Given the description of an element on the screen output the (x, y) to click on. 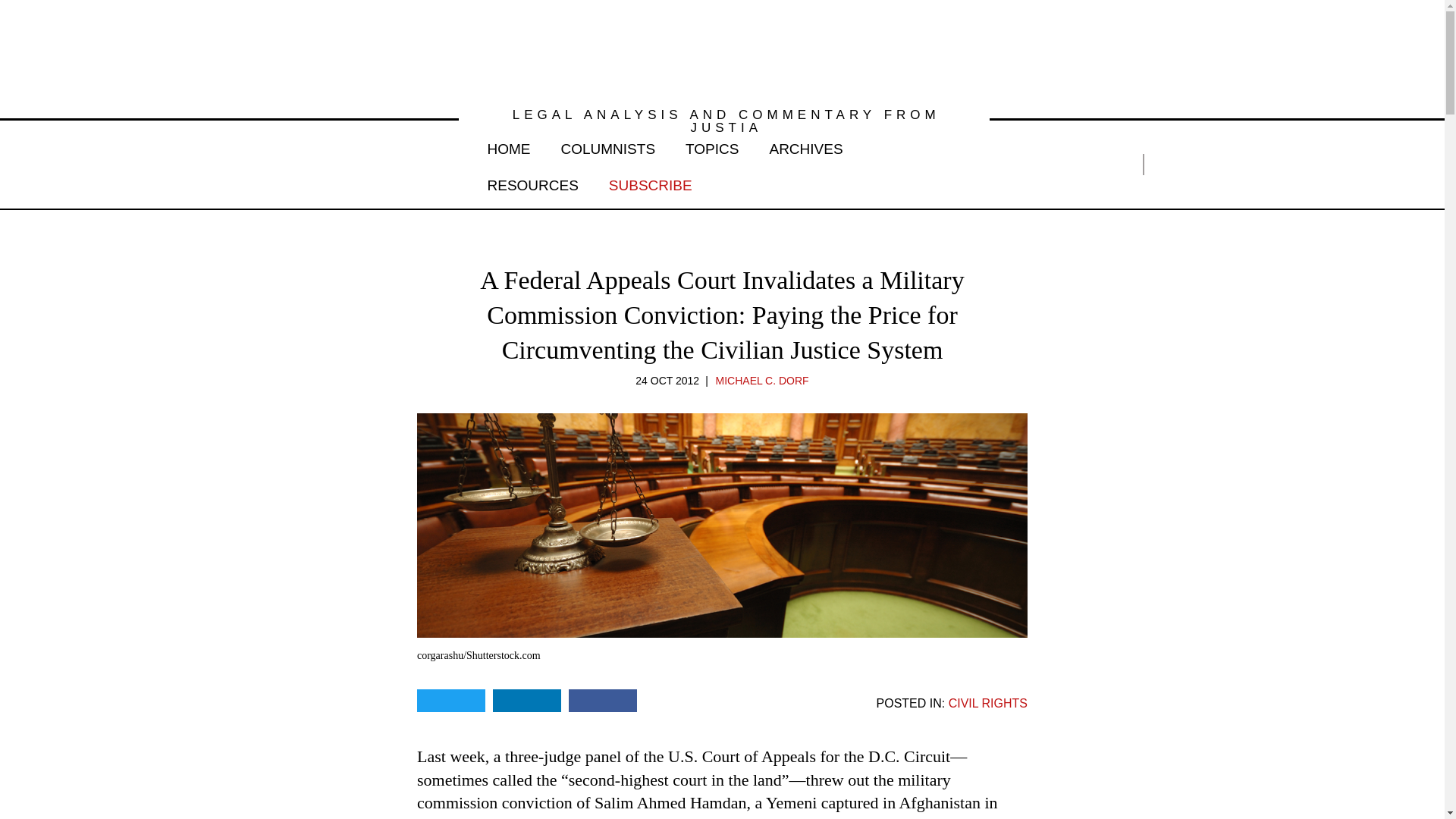
COLUMNISTS (608, 145)
Justia (323, 163)
SUBSCRIBE (650, 182)
TOPICS (711, 145)
Verdict Homepage (721, 50)
RESOURCES (531, 182)
HOME (507, 145)
Verdict (721, 50)
Justia (323, 163)
LEGAL ANALYSIS AND COMMENTARY FROM JUSTIA (724, 121)
